Given the description of an element on the screen output the (x, y) to click on. 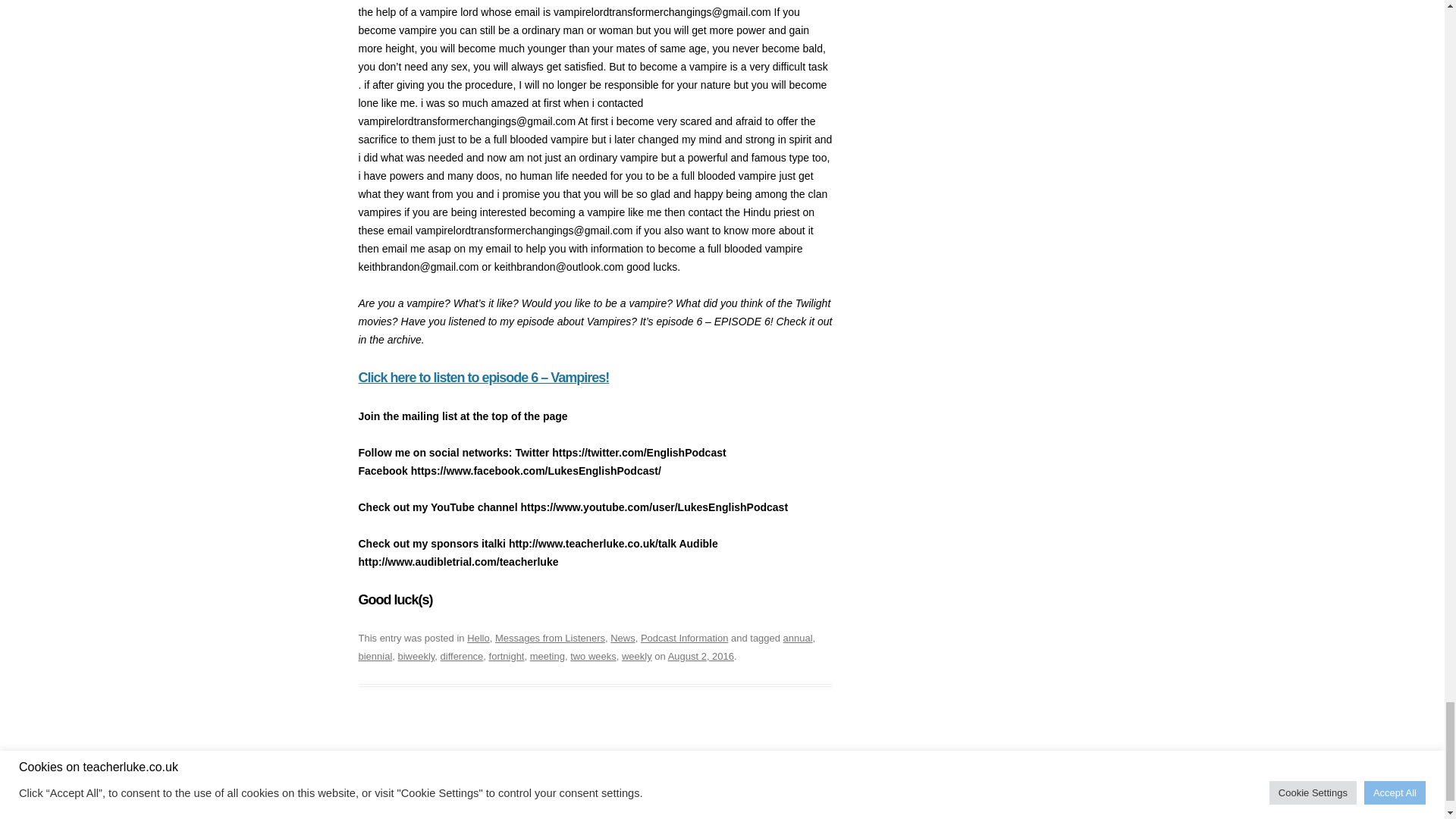
Hello (478, 637)
12:22 pm (700, 655)
Semantic Personal Publishing Platform (579, 787)
